Given the description of an element on the screen output the (x, y) to click on. 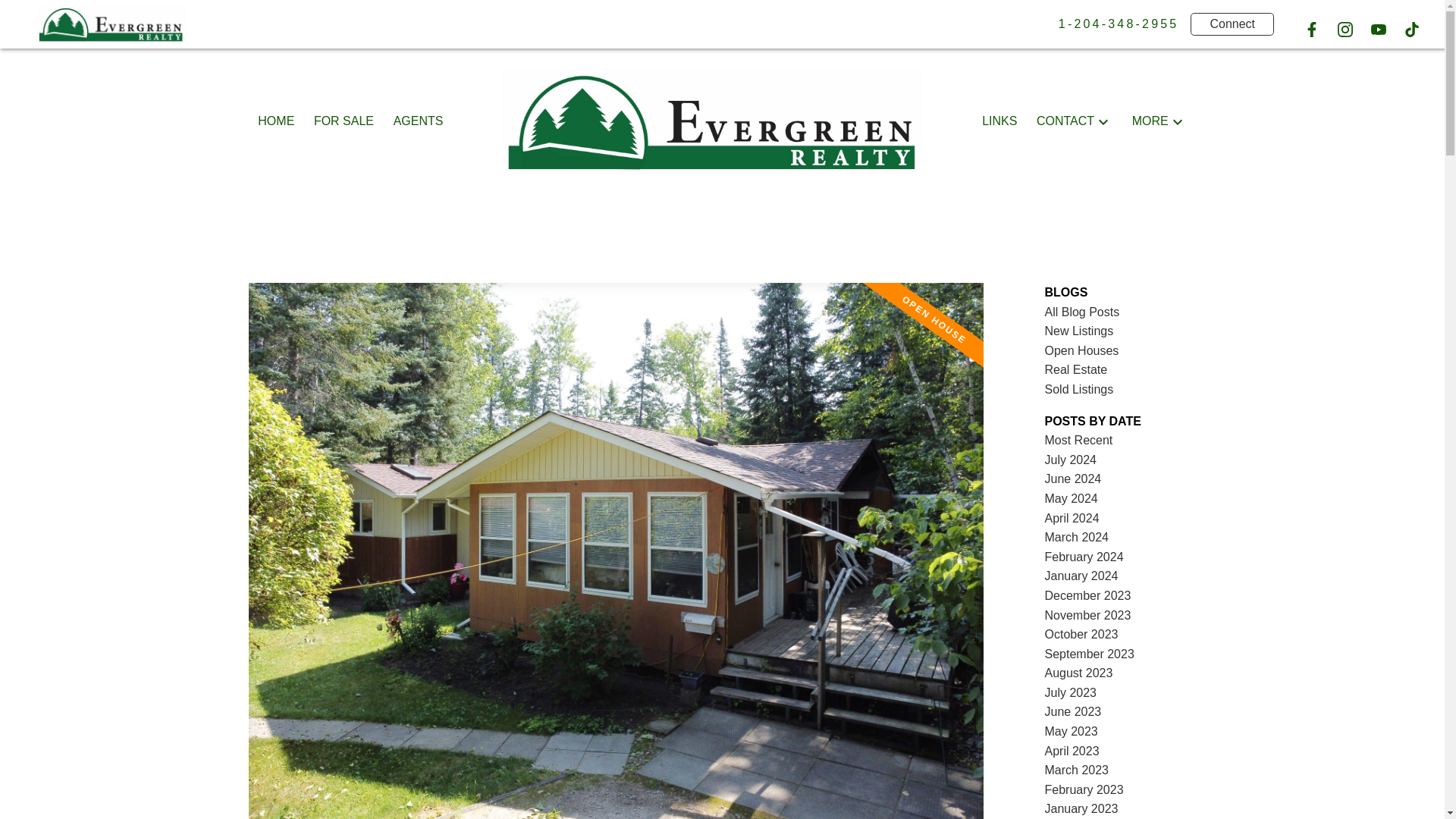
LINKS (998, 121)
July 2024 (1071, 459)
HOME (275, 121)
New Listings (1079, 330)
Open Houses (1082, 350)
All Blog Posts (1082, 311)
Sold Listings (1079, 389)
FOR SALE (344, 121)
March 2024 (1077, 536)
April 2024 (1072, 517)
Most Recent (1079, 440)
February 2024 (1084, 556)
Real Estate (1076, 369)
AGENTS (418, 121)
Connect (1232, 24)
